Given the description of an element on the screen output the (x, y) to click on. 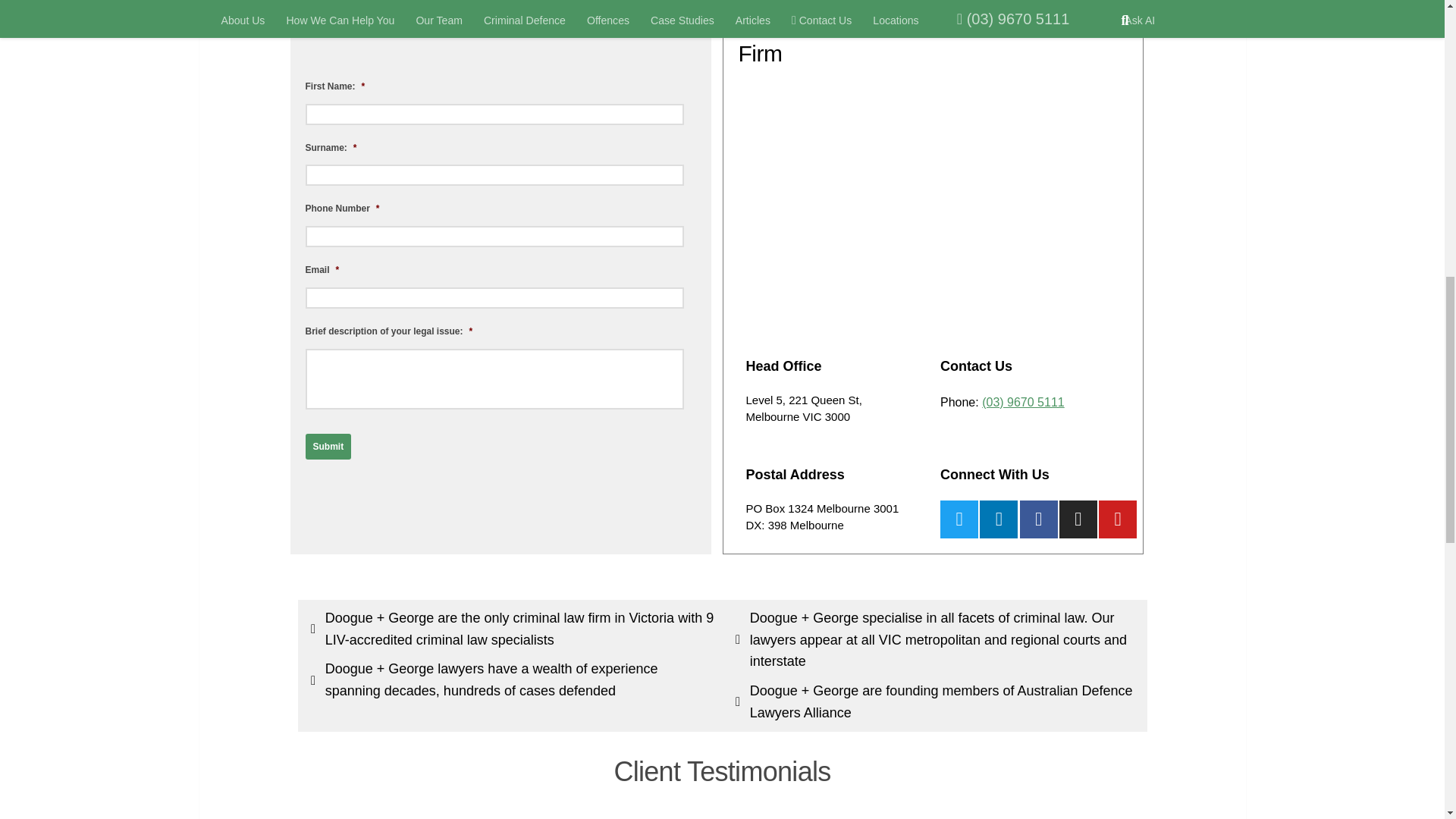
Submit (327, 446)
